Given the description of an element on the screen output the (x, y) to click on. 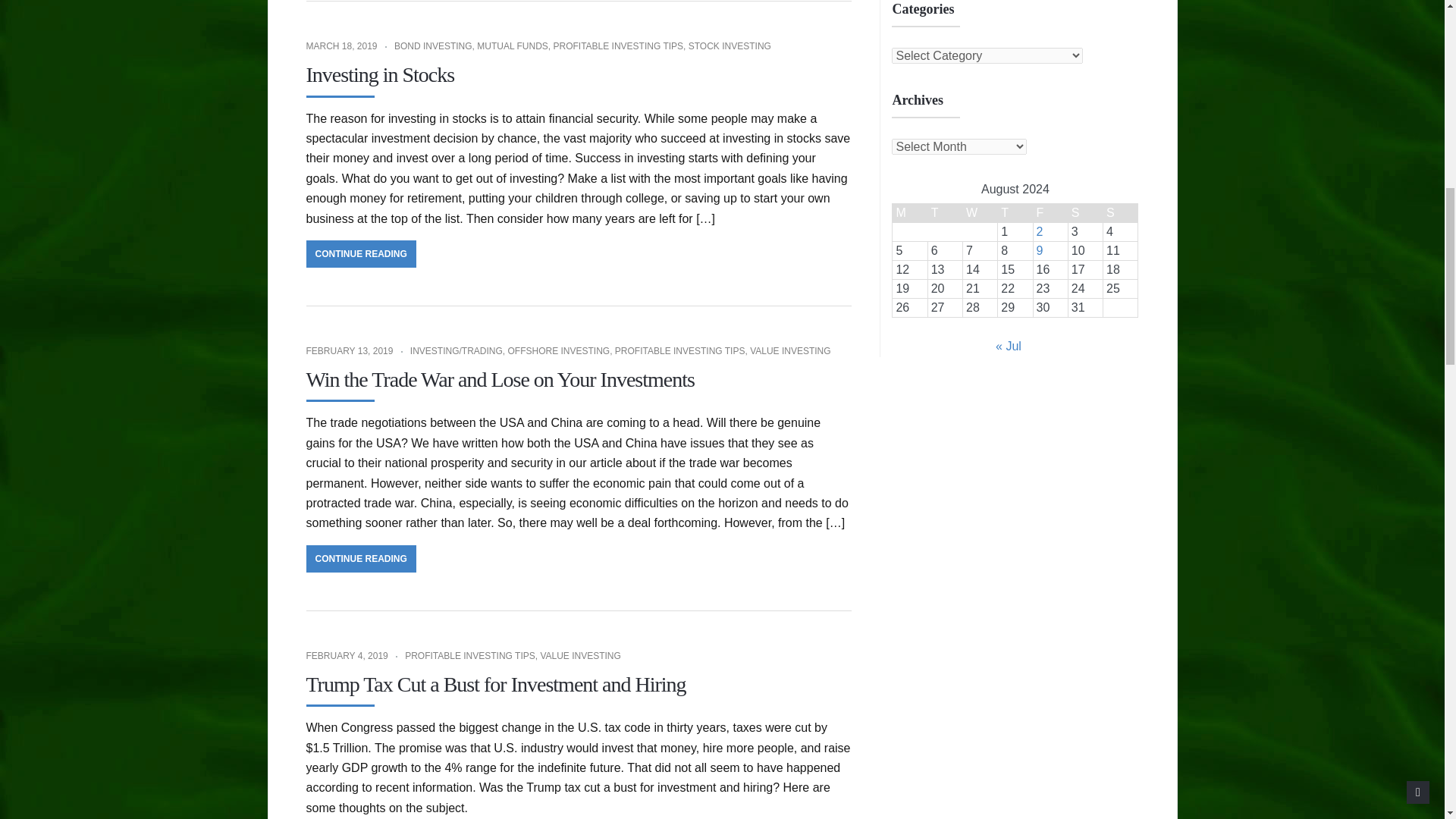
PROFITABLE INVESTING TIPS (617, 45)
Investing in Stocks (379, 74)
STOCK INVESTING (729, 45)
Tuesday (944, 212)
Win the Trade War and Lose on Your Investments (499, 379)
CONTINUE READING (360, 558)
Trump Tax Cut a Bust for Investment and Hiring (495, 684)
Monday (909, 212)
Saturday (1084, 212)
Sunday (1120, 212)
